Given the description of an element on the screen output the (x, y) to click on. 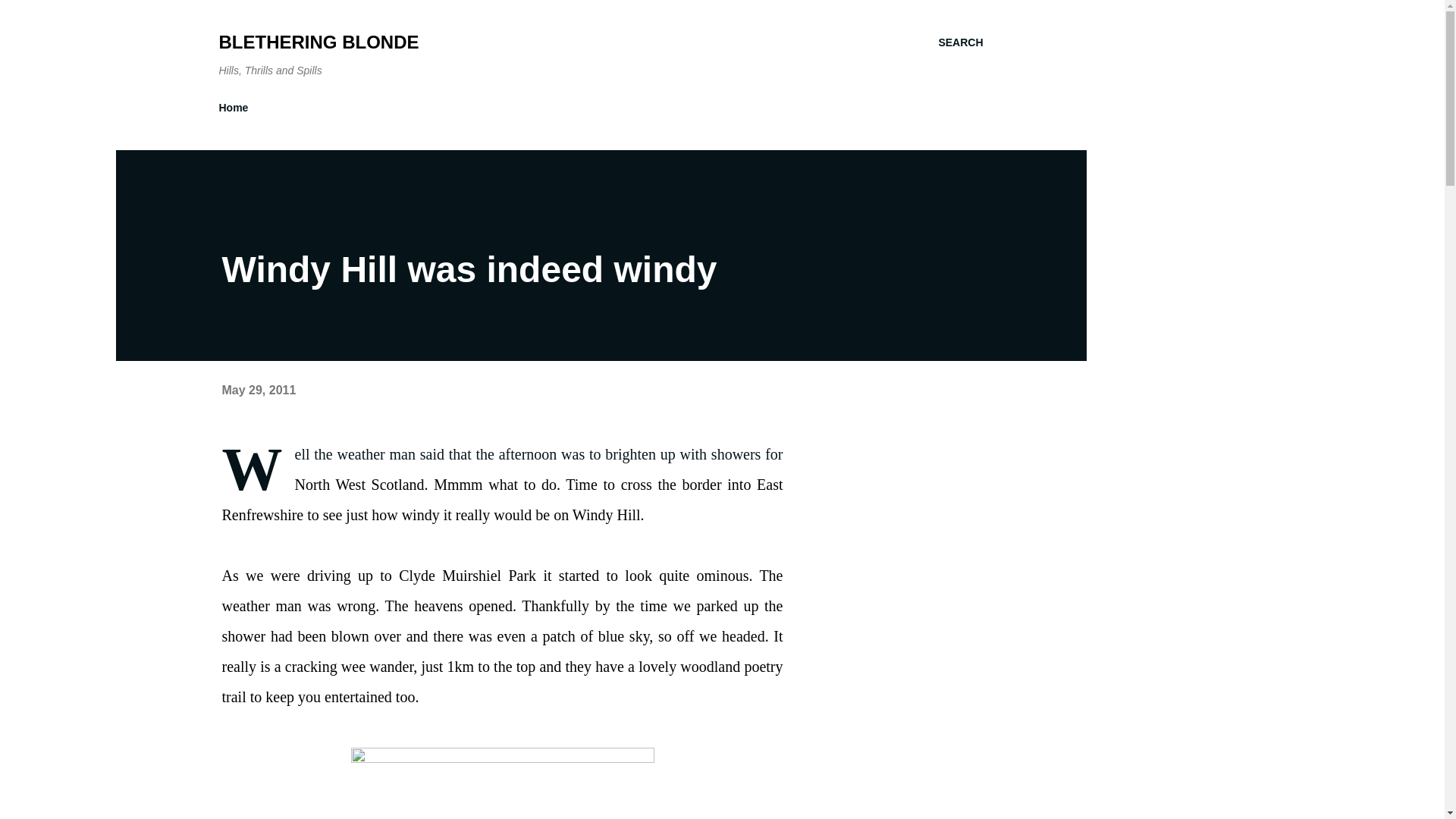
BLETHERING BLONDE (318, 41)
Home (237, 107)
SEARCH (959, 42)
permanent link (258, 390)
May 29, 2011 (258, 390)
